Given the description of an element on the screen output the (x, y) to click on. 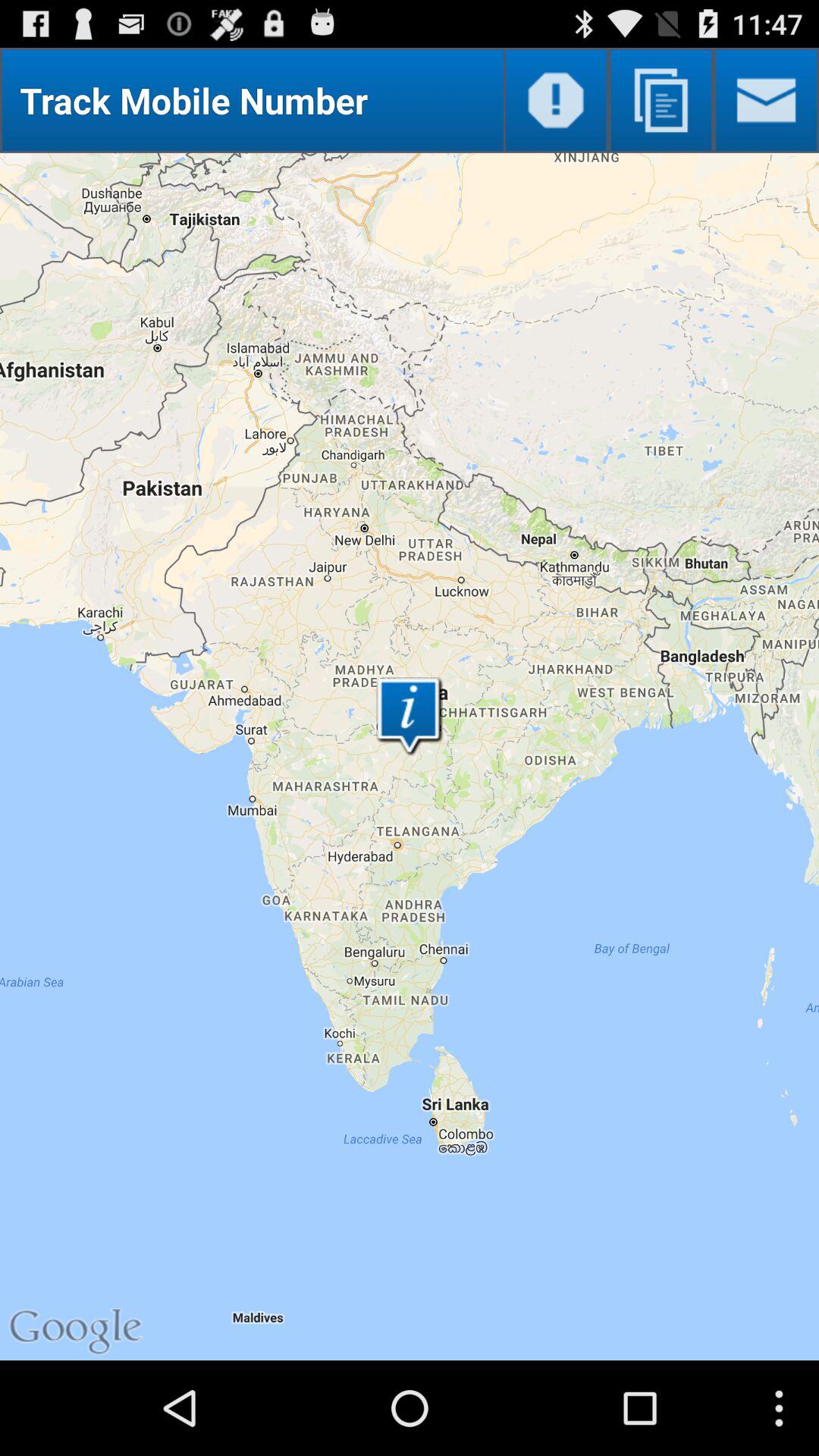
alerts (555, 99)
